Given the description of an element on the screen output the (x, y) to click on. 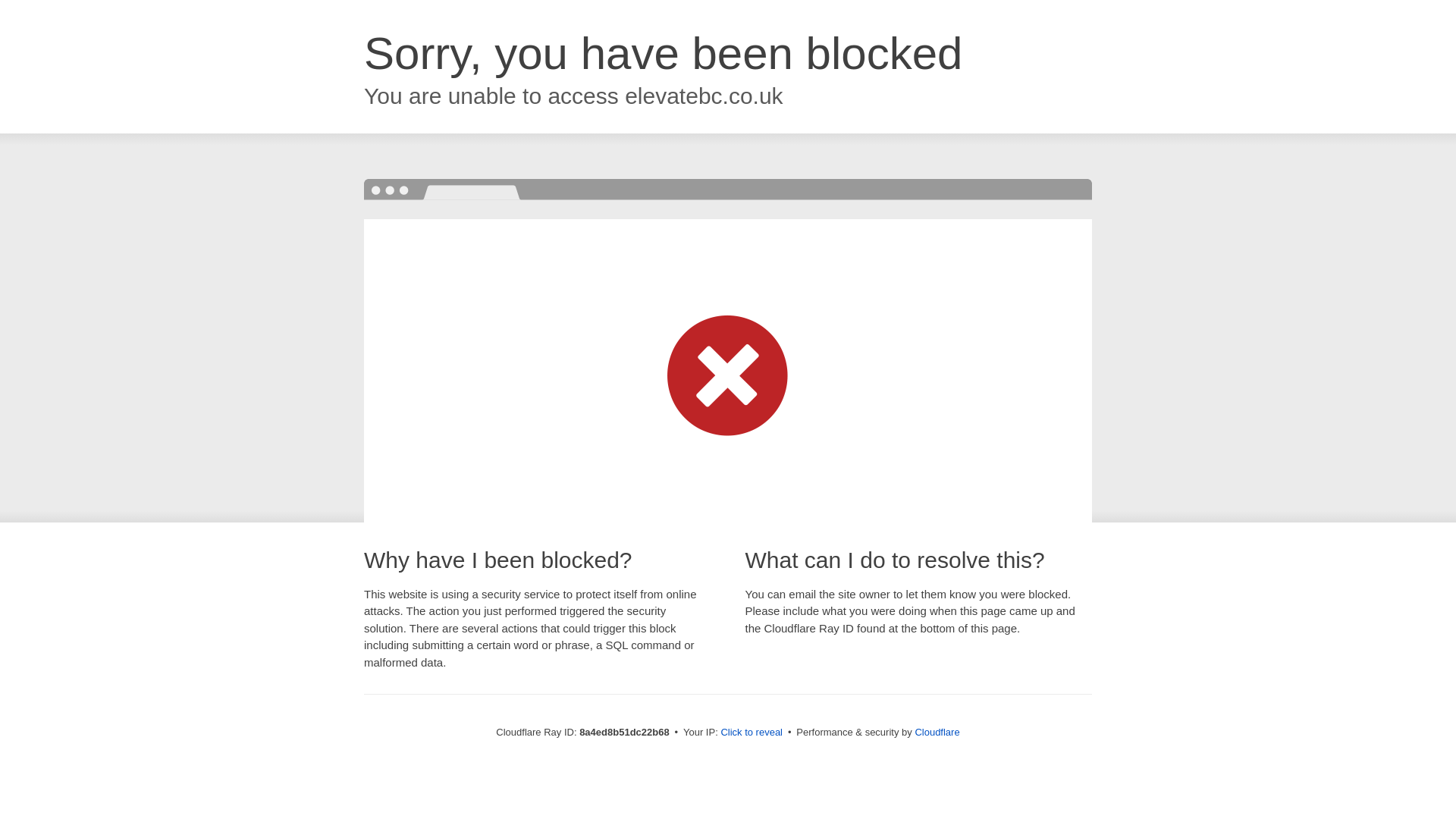
Cloudflare (936, 731)
Click to reveal (751, 732)
